Given the description of an element on the screen output the (x, y) to click on. 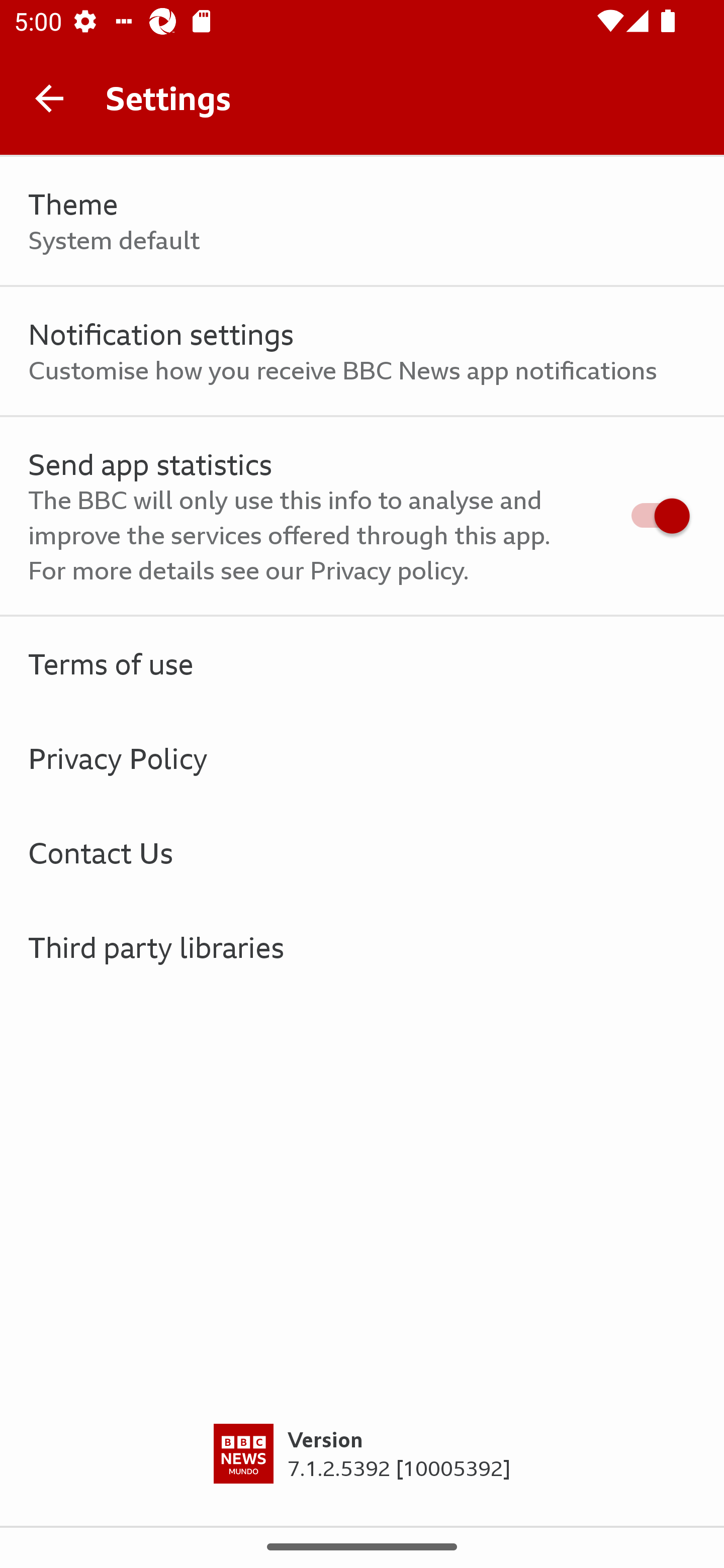
Back (49, 97)
Theme System default (362, 220)
Terms of use (362, 663)
Privacy Policy (362, 758)
Contact Us (362, 852)
Third party libraries (362, 947)
Version 7.1.2.5392 [10005392] (362, 1474)
